Given the description of an element on the screen output the (x, y) to click on. 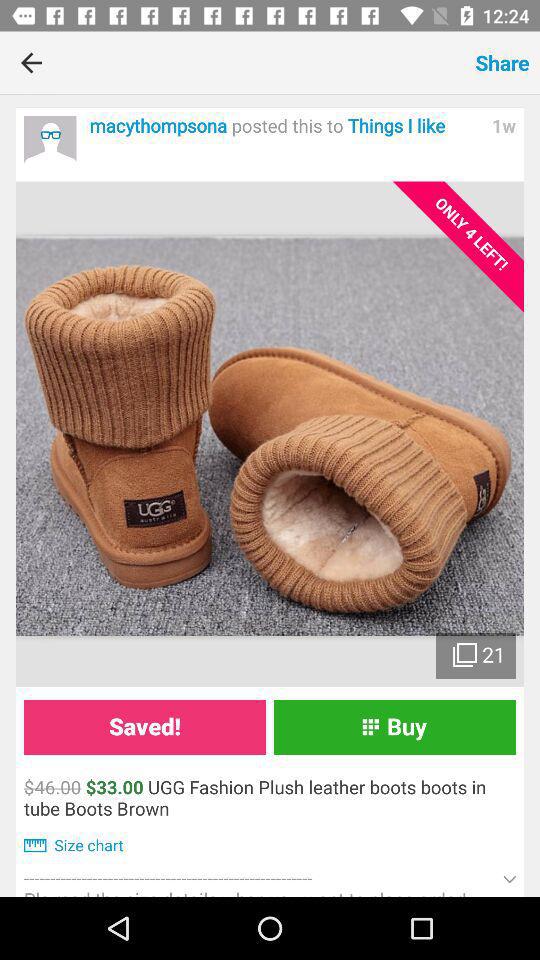
profile picture (50, 141)
